Given the description of an element on the screen output the (x, y) to click on. 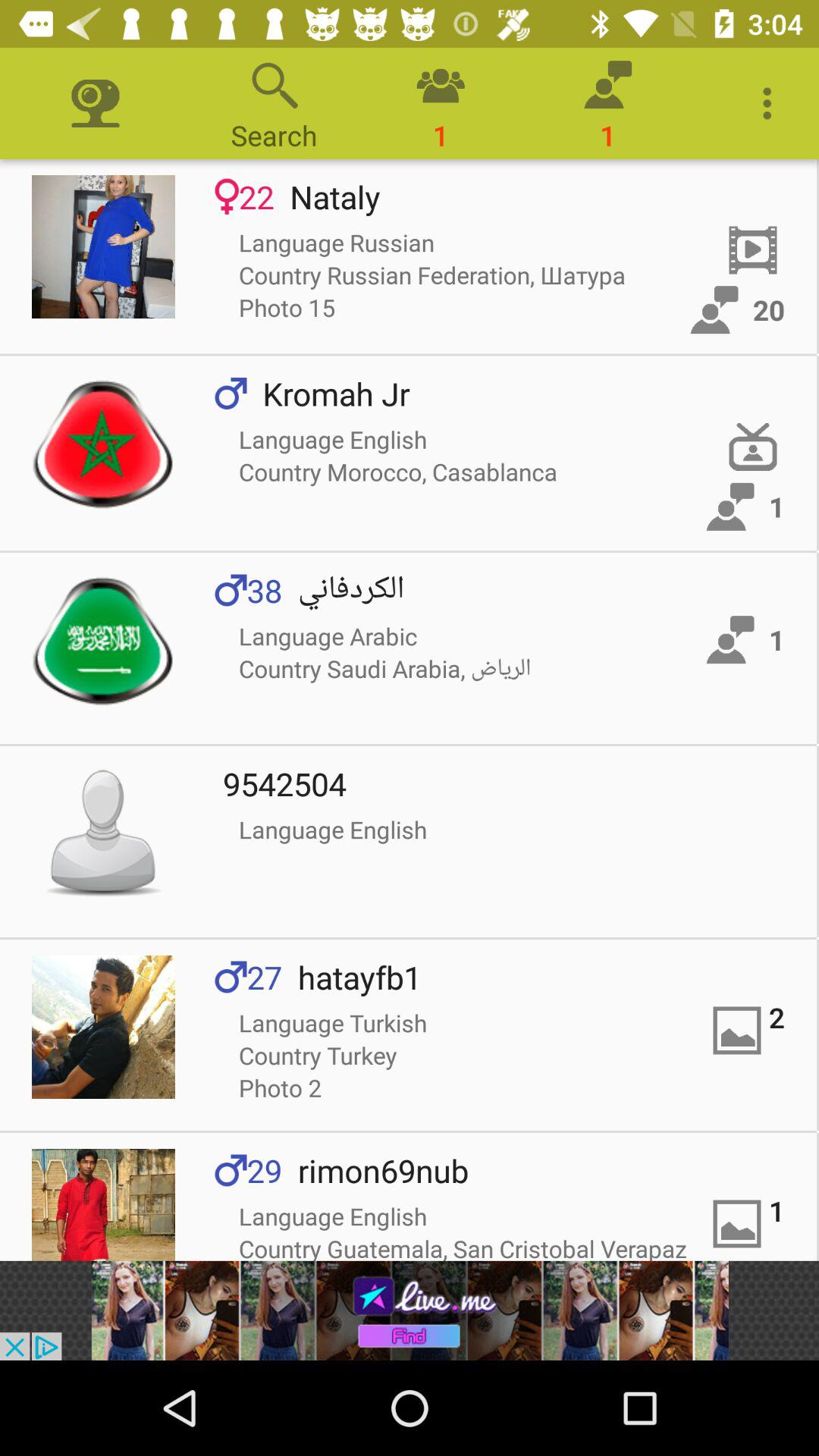
redirect to advertisement (409, 1310)
